Given the description of an element on the screen output the (x, y) to click on. 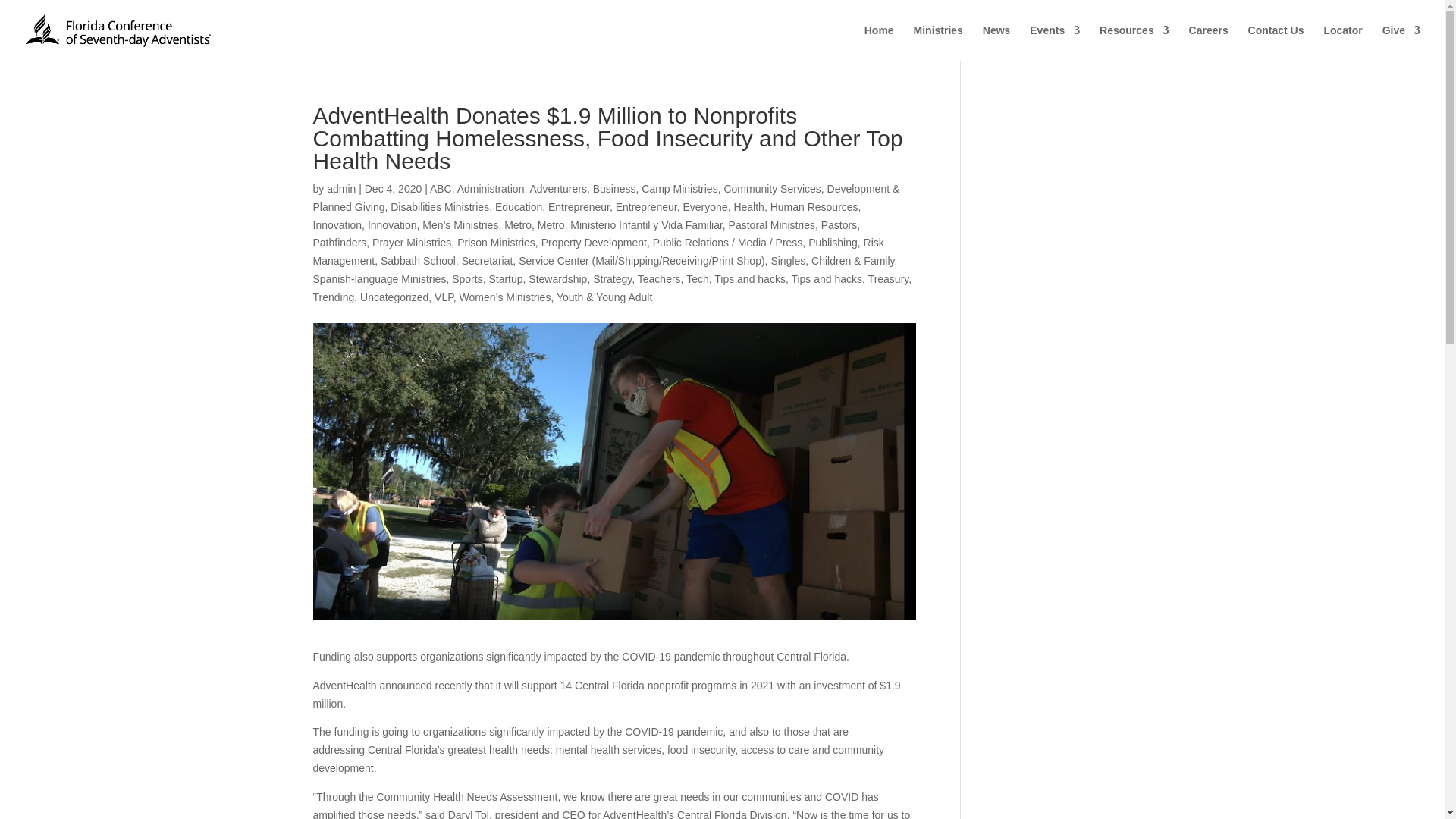
Adventurers (557, 188)
Entrepreneur (579, 206)
Resources (1134, 42)
Locator (1342, 42)
Administration (490, 188)
Ministries (938, 42)
Events (1054, 42)
Disabilities Ministries (439, 206)
Contact Us (1275, 42)
Education (518, 206)
Business (614, 188)
Camp Ministries (679, 188)
Innovation (337, 224)
Entrepreneur (646, 206)
Innovation (392, 224)
